Given the description of an element on the screen output the (x, y) to click on. 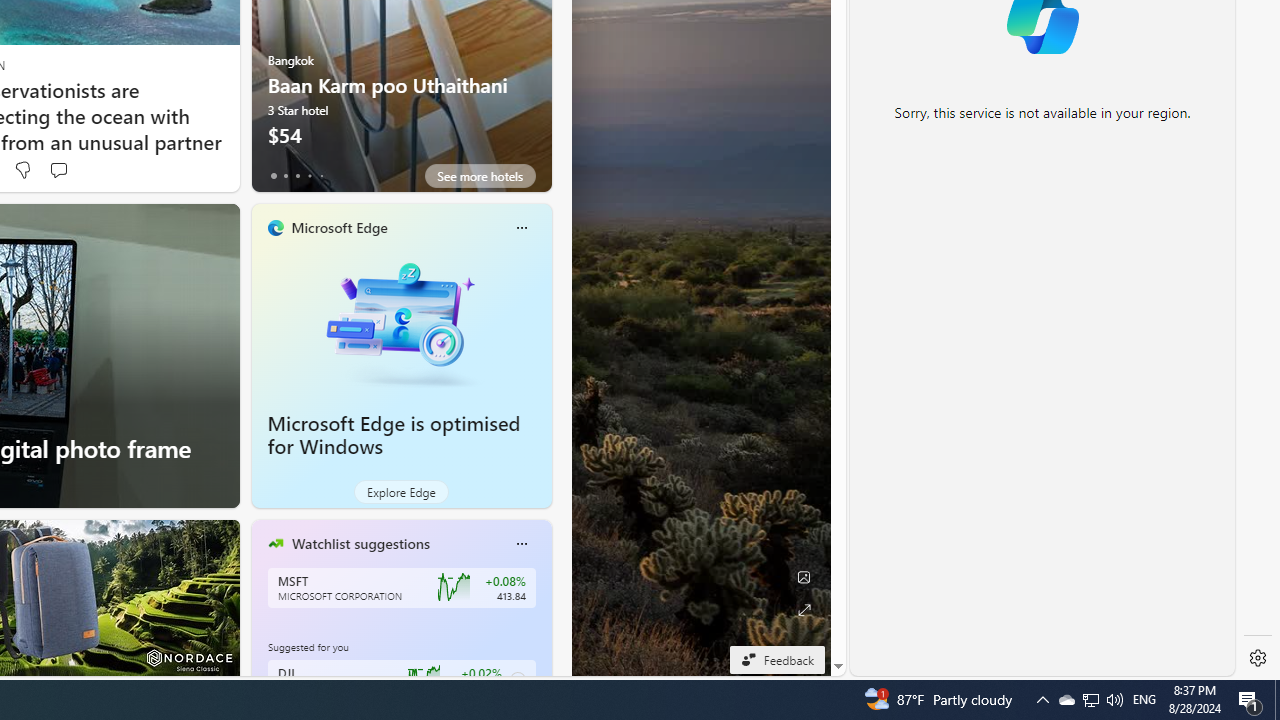
tab-1 (285, 175)
Class: icon-img (521, 543)
tab-0 (273, 175)
tab-3 (309, 175)
Expand background (803, 610)
Explore Edge (401, 491)
